Given the description of an element on the screen output the (x, y) to click on. 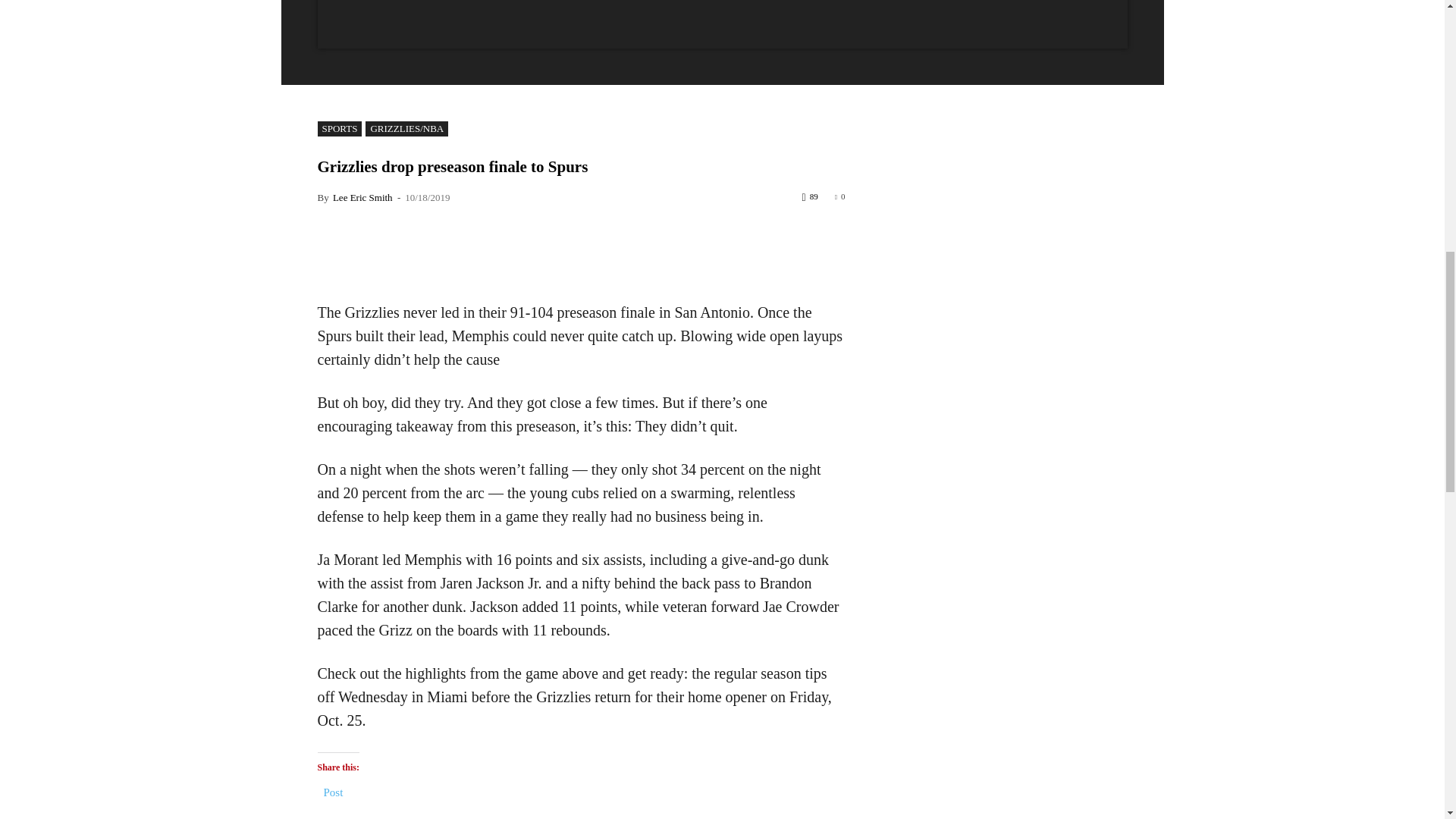
topFacebookLike (430, 223)
